Given the description of an element on the screen output the (x, y) to click on. 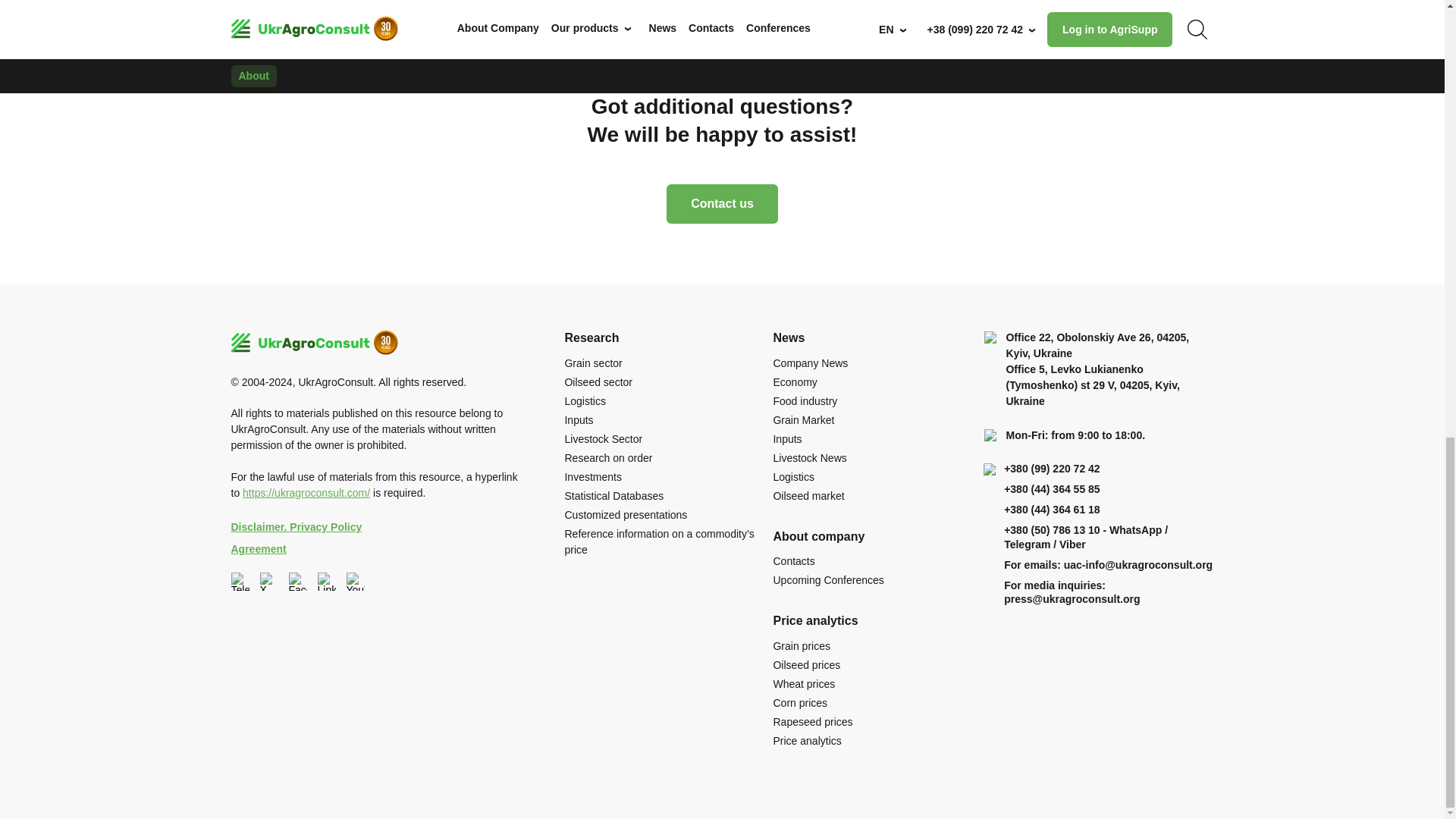
Facebook (296, 581)
LinkedIn (325, 581)
YouTube (355, 581)
X (268, 581)
Telegram (239, 581)
